Given the description of an element on the screen output the (x, y) to click on. 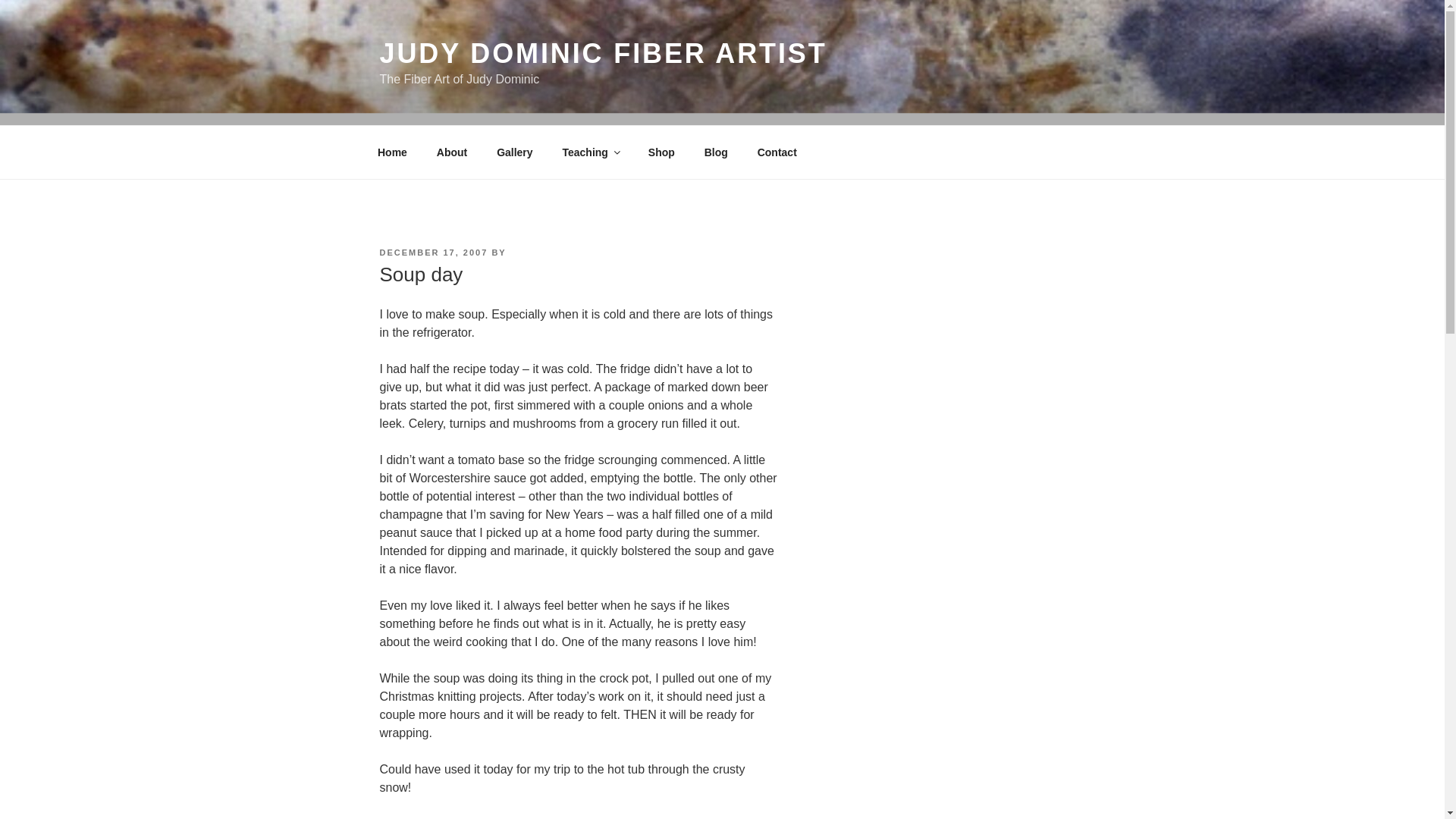
Home (392, 151)
Contact (776, 151)
Gallery (514, 151)
Blog (715, 151)
JUDY DOMINIC FIBER ARTIST (602, 52)
About (451, 151)
Teaching (589, 151)
DECEMBER 17, 2007 (432, 252)
Shop (660, 151)
